Given the description of an element on the screen output the (x, y) to click on. 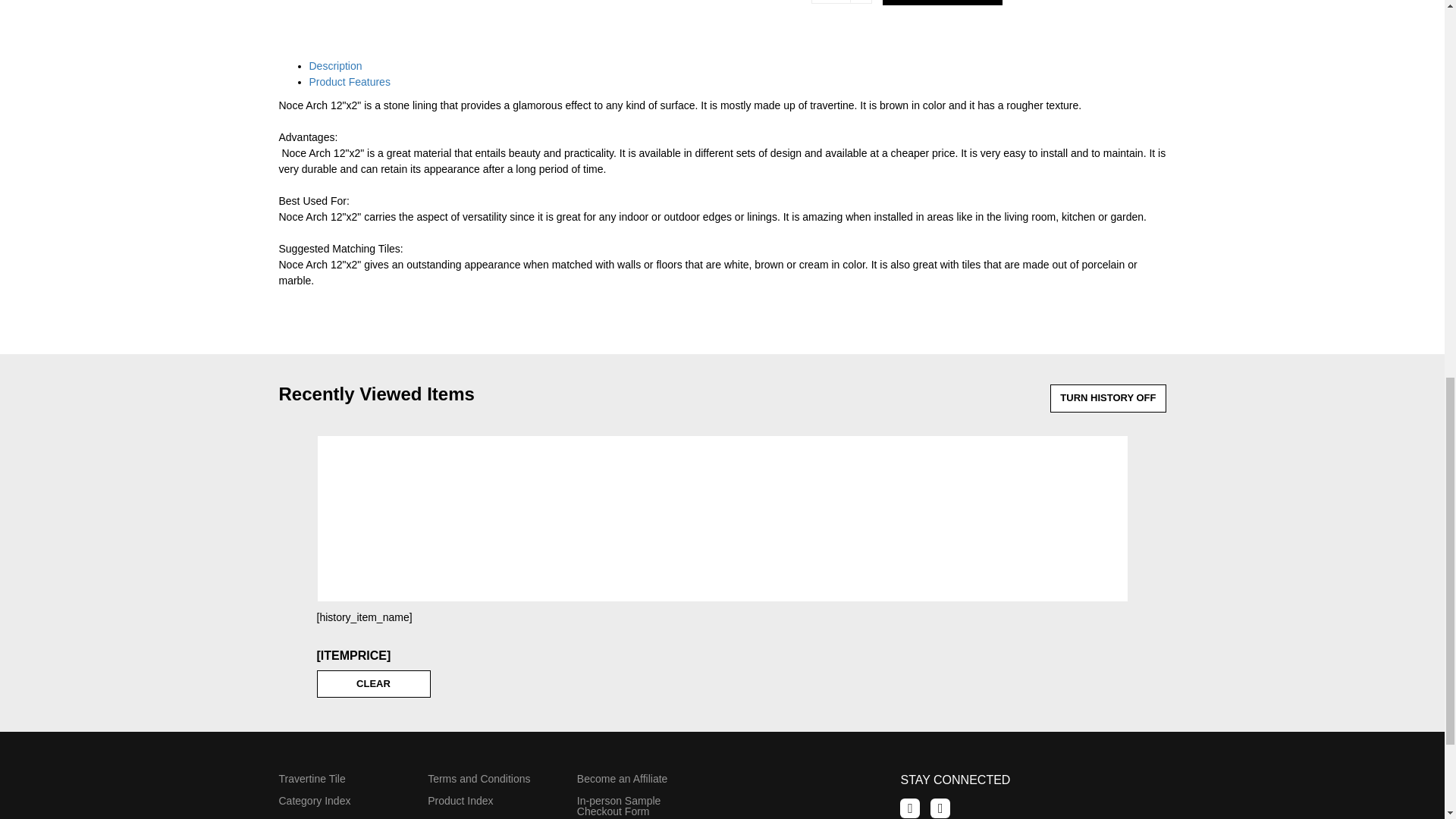
Like Us on Facebook (909, 808)
1 (841, 2)
Follow Us on Pinterest (940, 808)
